Given the description of an element on the screen output the (x, y) to click on. 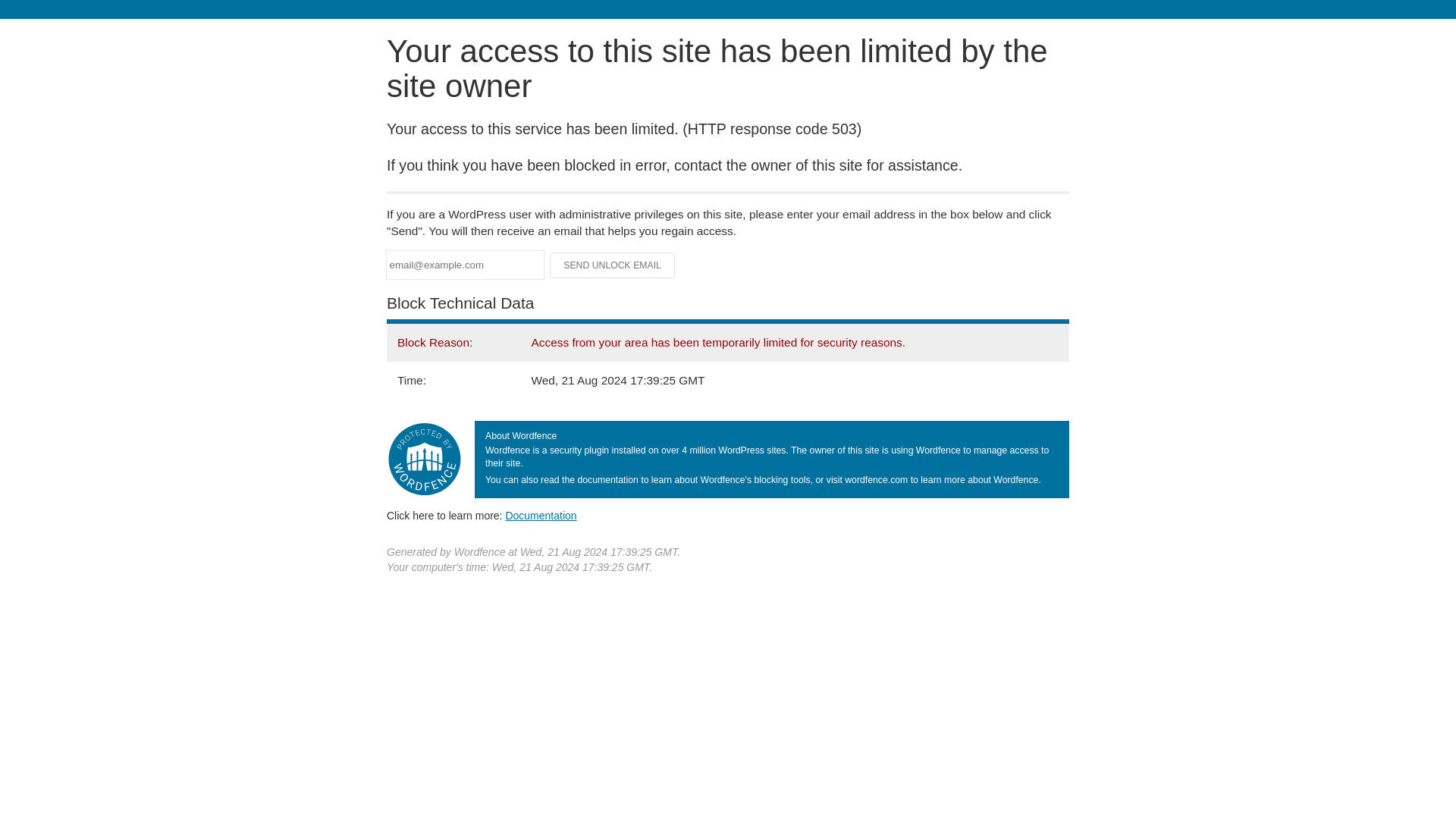
Documentation (540, 515)
Send Unlock Email (612, 265)
Send Unlock Email (612, 265)
